Given the description of an element on the screen output the (x, y) to click on. 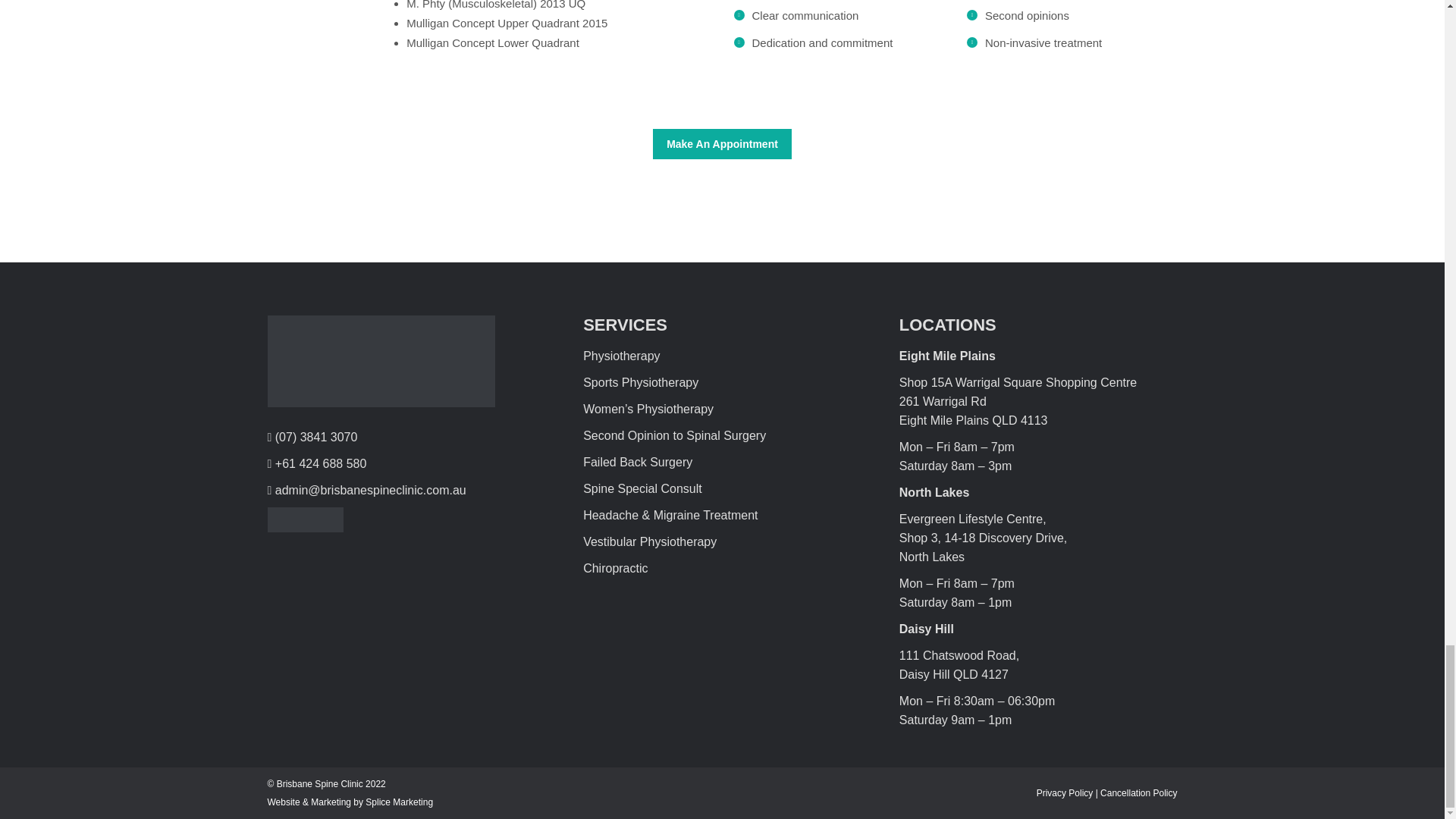
Contact (722, 143)
